Given the description of an element on the screen output the (x, y) to click on. 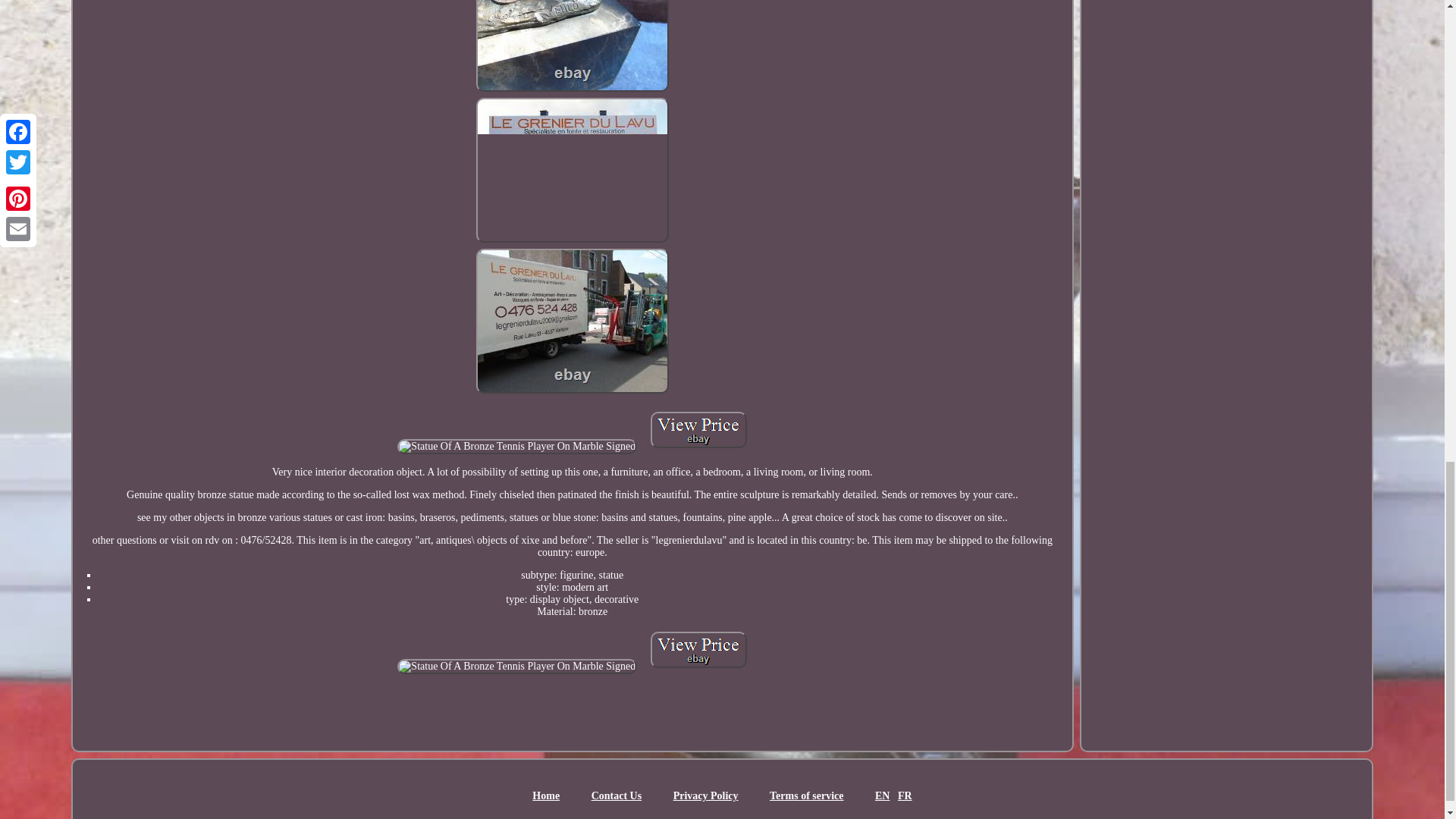
Statue Of A Bronze Tennis Player On Marble Signed (572, 45)
Statue Of A Bronze Tennis Player On Marble Signed (517, 446)
Statue Of A Bronze Tennis Player On Marble Signed (572, 169)
Statue Of A Bronze Tennis Player On Marble Signed (517, 666)
Statue Of A Bronze Tennis Player On Marble Signed (698, 649)
Statue Of A Bronze Tennis Player On Marble Signed (572, 320)
Statue Of A Bronze Tennis Player On Marble Signed (698, 429)
